Given the description of an element on the screen output the (x, y) to click on. 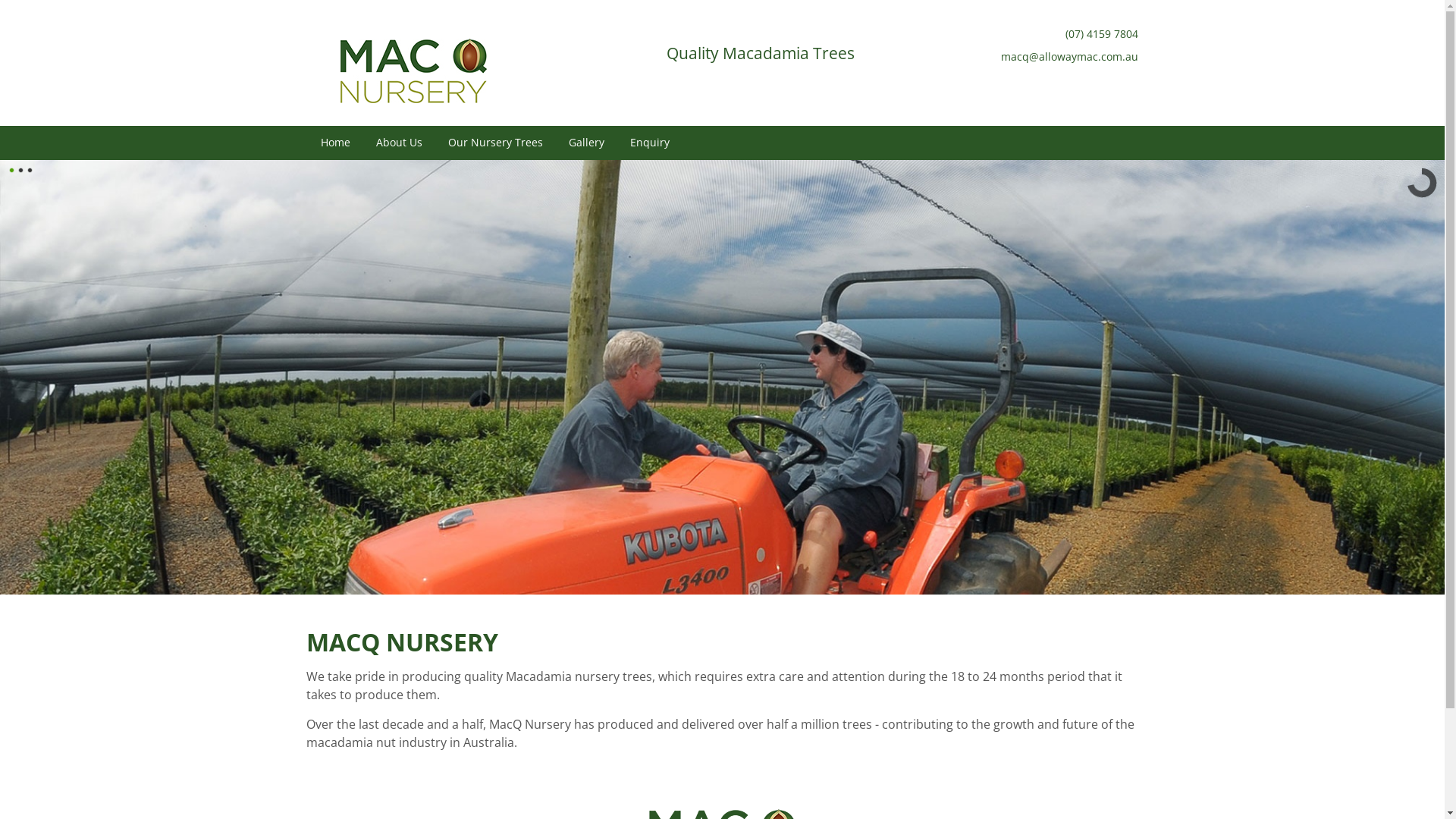
Home Element type: text (335, 142)
Enquiry Element type: text (643, 142)
About Us Element type: text (398, 142)
Our Nursery Trees Element type: text (495, 142)
macq@allowaymac.com.au Element type: text (1069, 56)
(07) 4159 7804 Element type: text (1101, 33)
Gallery Element type: text (586, 142)
